Given the description of an element on the screen output the (x, y) to click on. 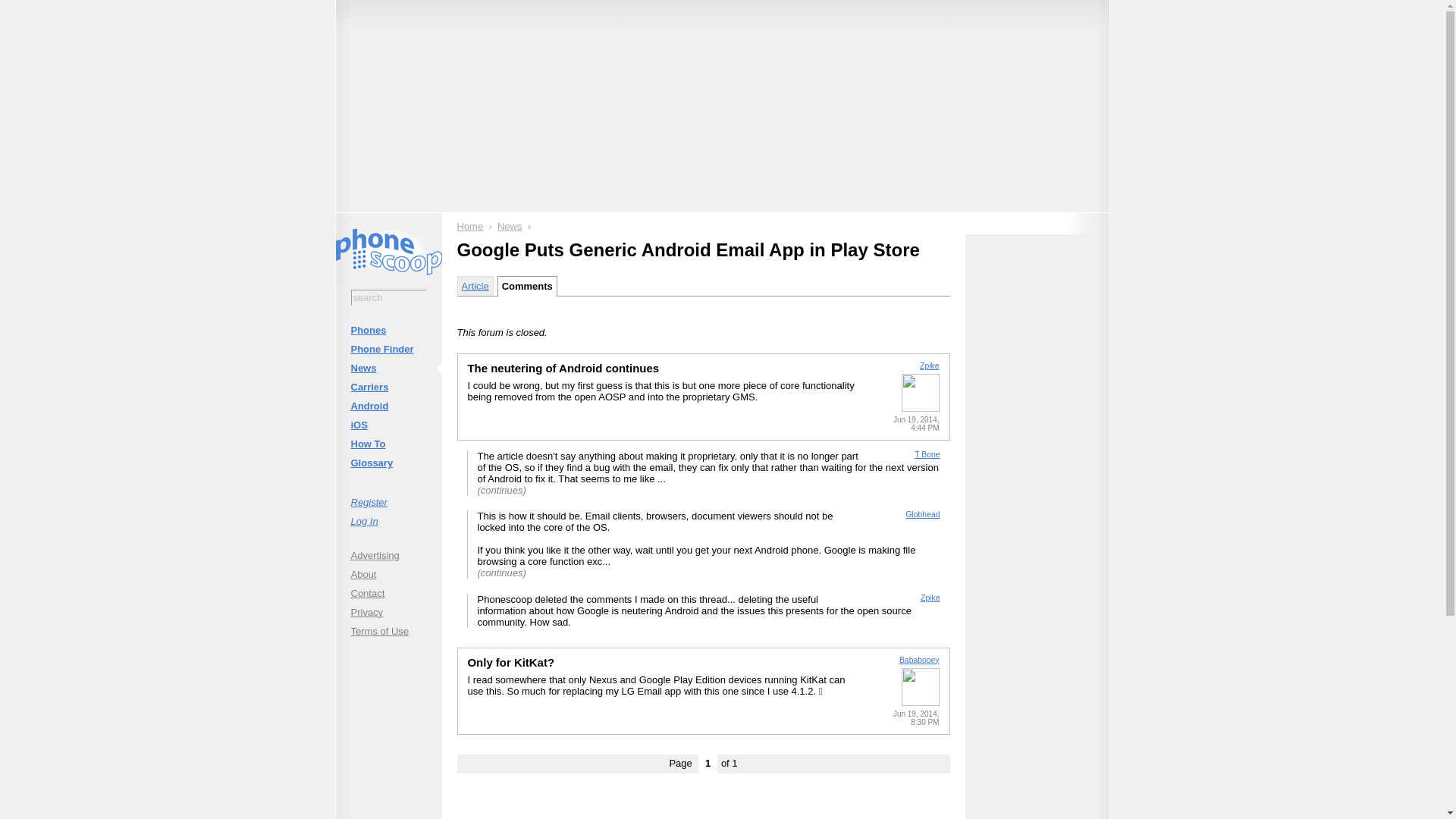
Glossary (387, 462)
Carriers (387, 386)
Phone Finder (387, 348)
Register (387, 502)
Bababooey (919, 660)
Privacy (387, 610)
search (388, 297)
Globhead (922, 514)
Log In (387, 520)
Article (475, 285)
Advertising (387, 555)
About (387, 573)
Terms of Use (387, 630)
How To (387, 443)
Zpike (929, 597)
